Given the description of an element on the screen output the (x, y) to click on. 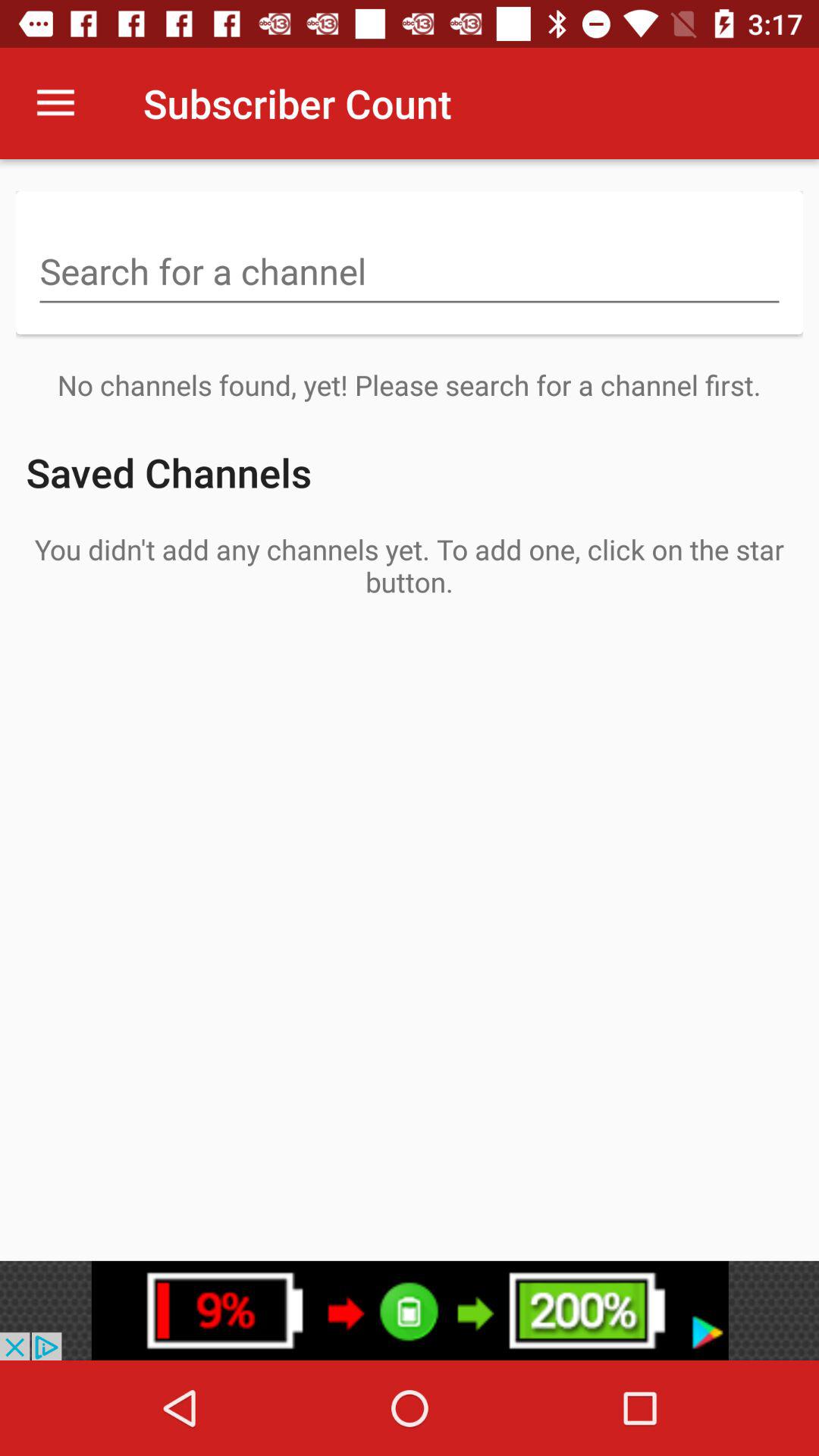
google play advertisement (409, 1310)
